Given the description of an element on the screen output the (x, y) to click on. 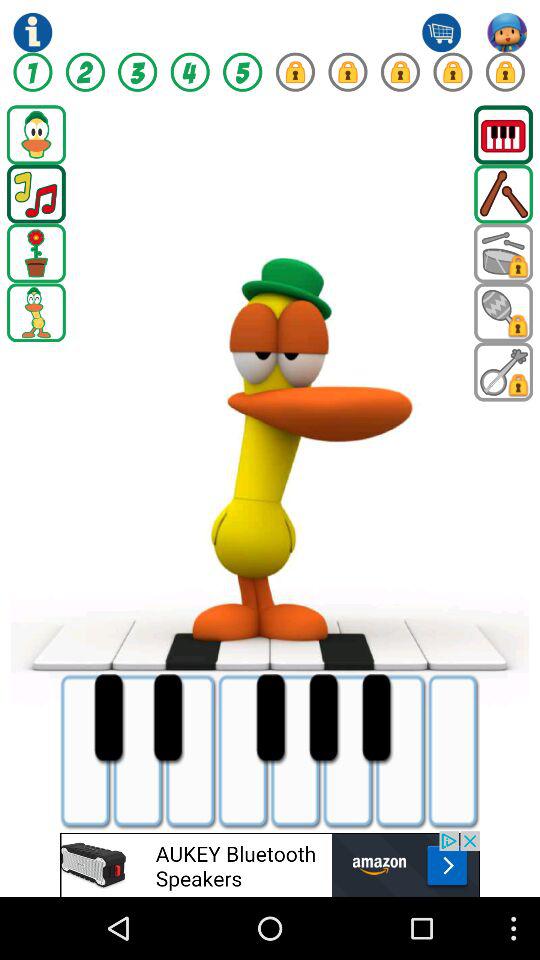
game option (36, 134)
